Given the description of an element on the screen output the (x, y) to click on. 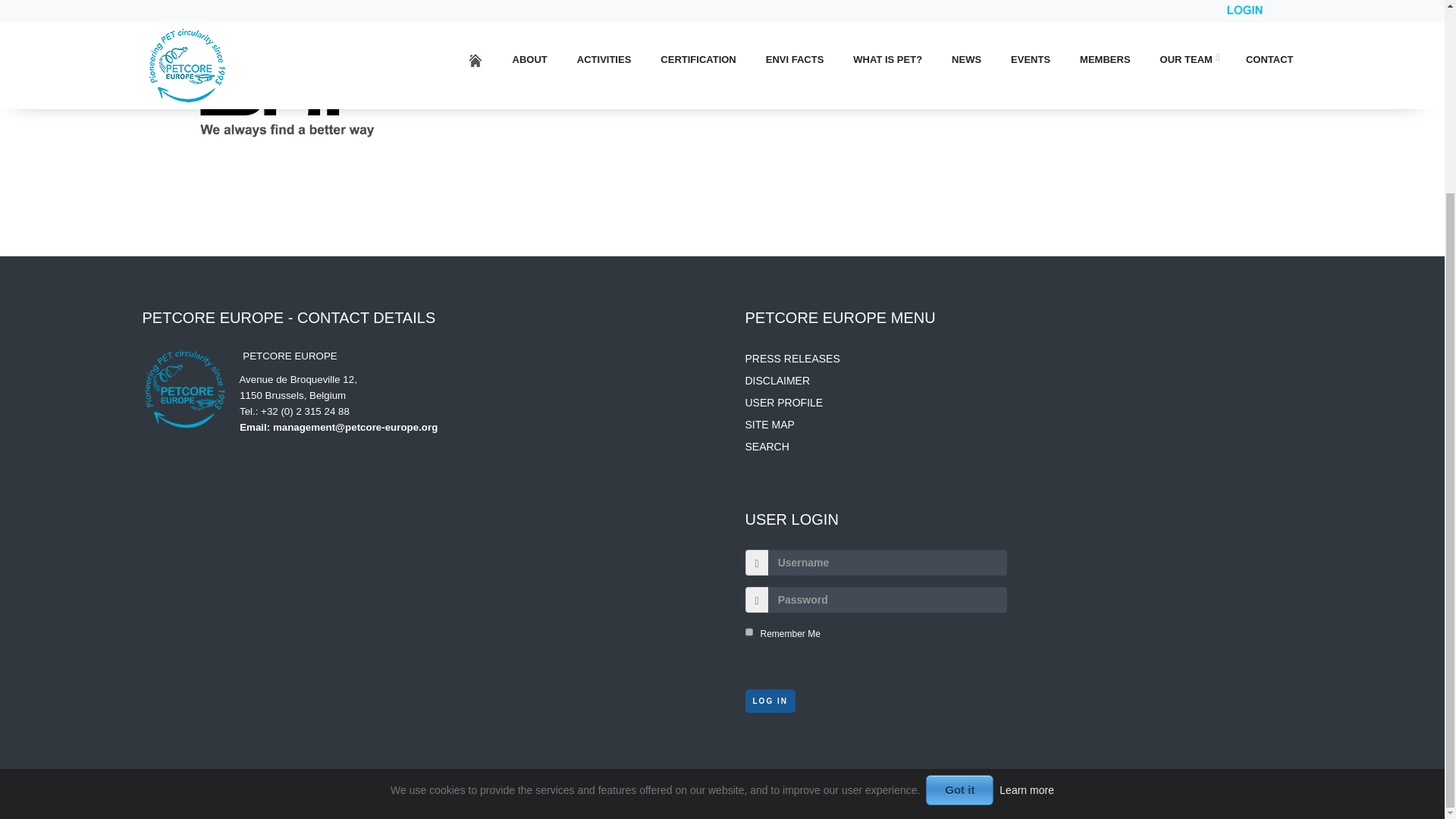
LOG IN (769, 700)
DISCLAIMER (776, 380)
Learn more (1026, 547)
SEARCH (766, 446)
Got it (959, 547)
www.srf.com (532, 52)
SITE MAP (768, 424)
www.abc-site.com (916, 794)
USER PROFILE (783, 402)
PRESS RELEASES (792, 358)
